Given the description of an element on the screen output the (x, y) to click on. 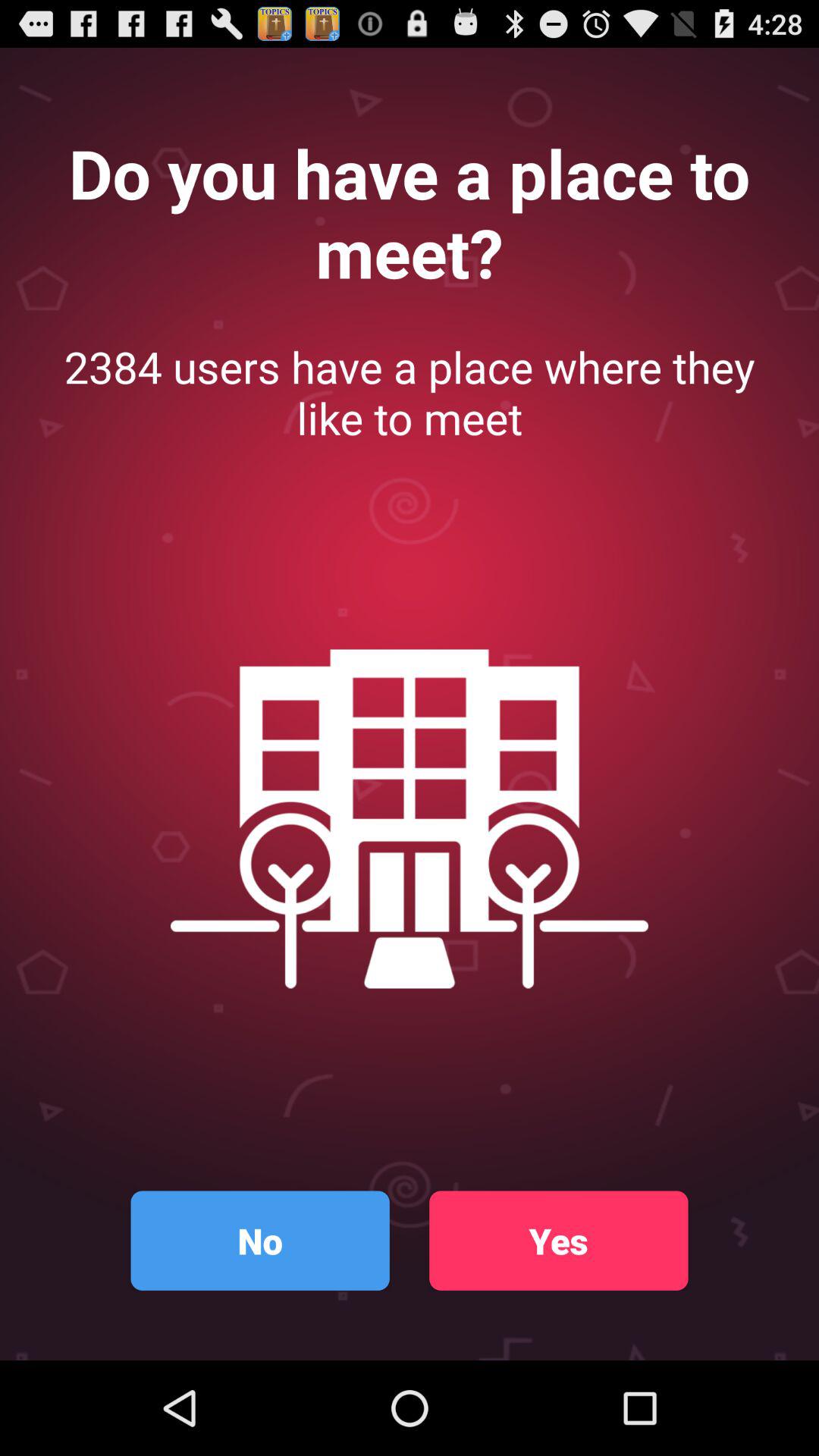
select icon to the right of the no (558, 1240)
